Given the description of an element on the screen output the (x, y) to click on. 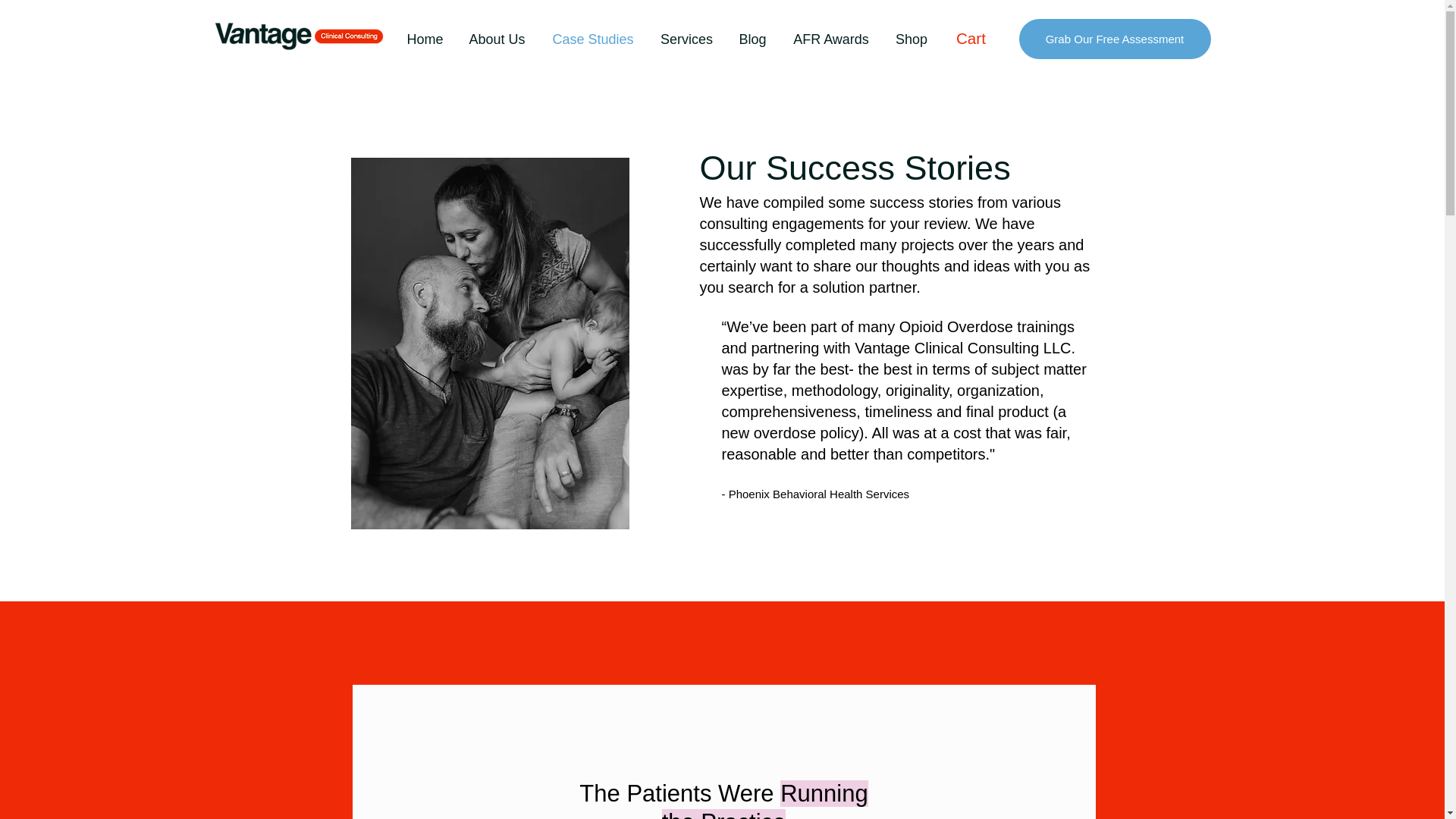
Case Studies (592, 38)
AFR Awards (830, 38)
Grab Our Free Assessment (1115, 38)
Blog (752, 38)
Cart (982, 38)
Cart (982, 38)
Shop (910, 38)
Home (424, 38)
Logo.png (298, 34)
About Us (496, 38)
